Given the description of an element on the screen output the (x, y) to click on. 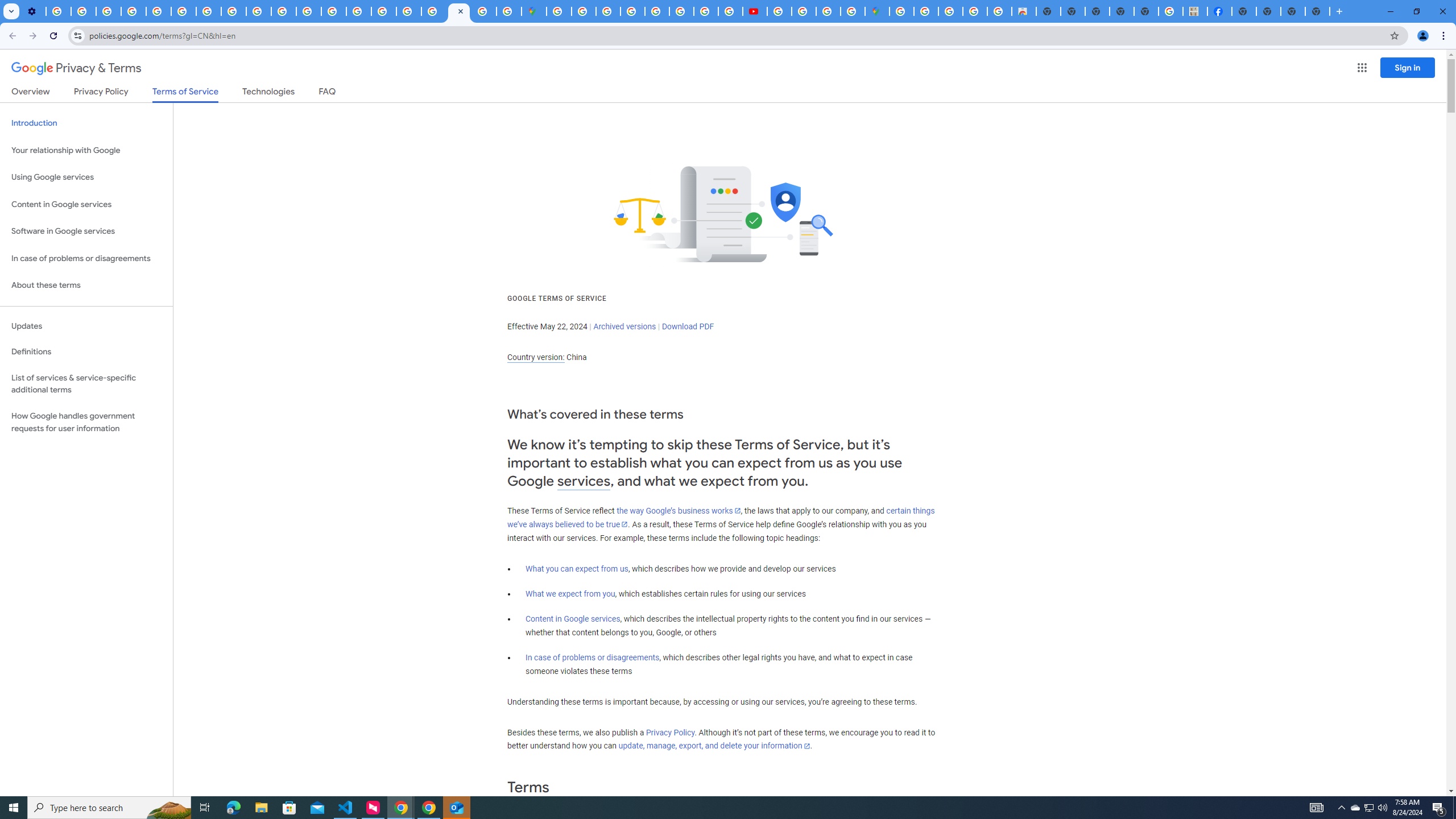
Privacy Help Center - Policies Help (705, 11)
Your relationship with Google (86, 150)
Using Google services (86, 176)
Overview (30, 93)
Technologies (268, 93)
Privacy & Terms (76, 68)
MILEY CYRUS. (1194, 11)
Privacy Help Center - Policies Help (680, 11)
In case of problems or disagreements (592, 657)
